Given the description of an element on the screen output the (x, y) to click on. 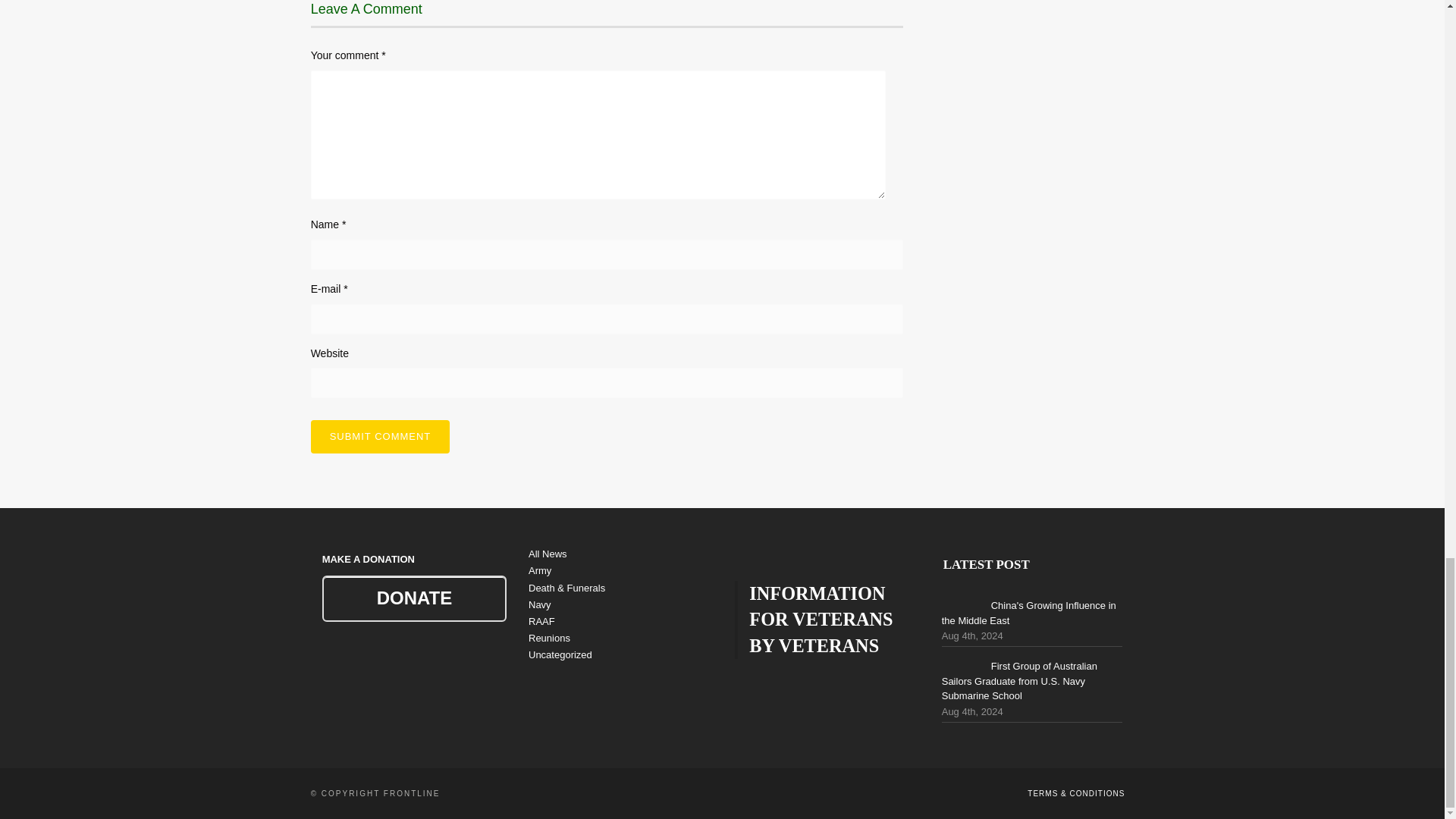
Army (539, 570)
All News (547, 553)
Submit comment (380, 436)
DONATE (413, 598)
Submit comment (380, 436)
